Given the description of an element on the screen output the (x, y) to click on. 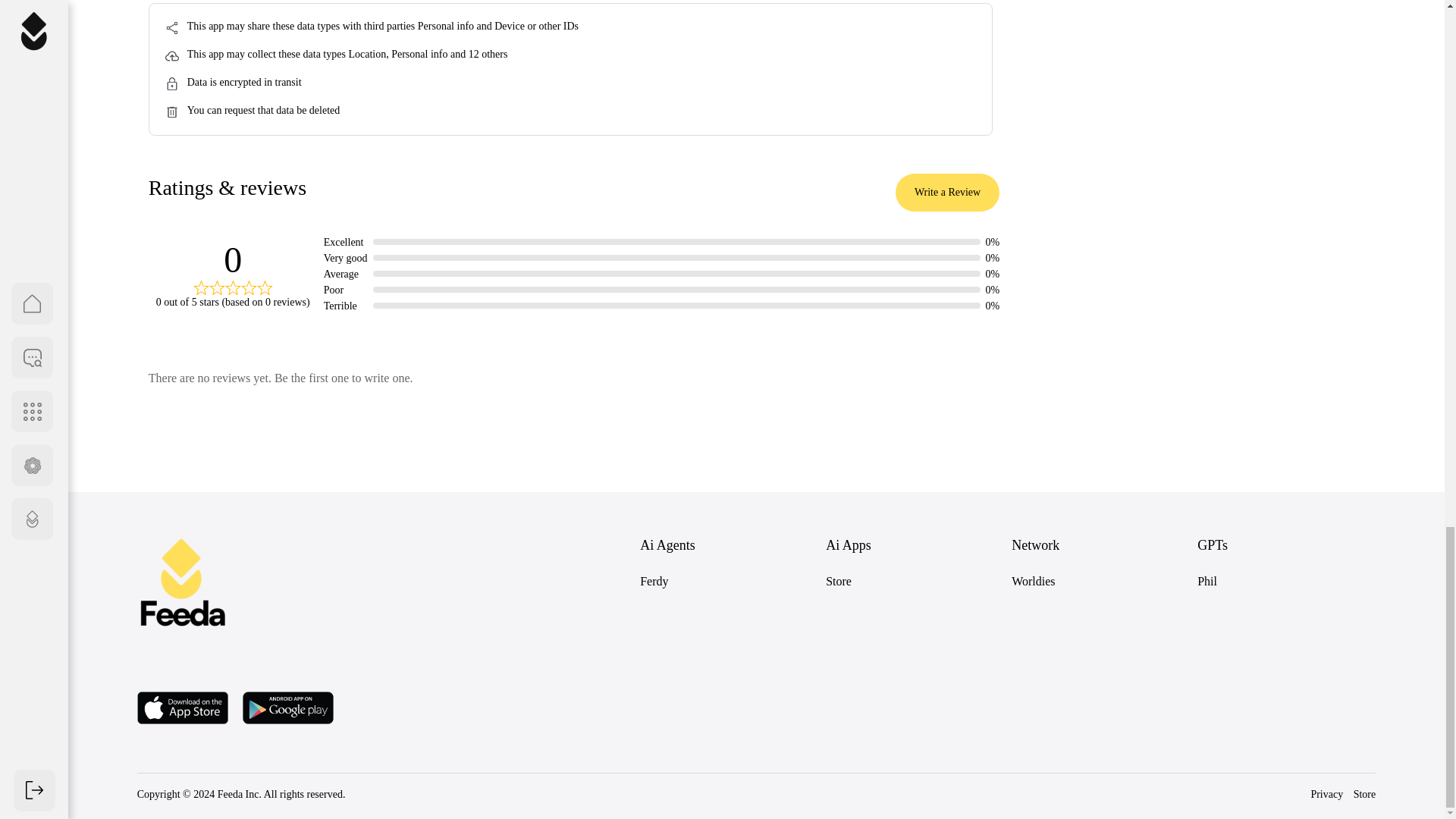
Phil (1206, 581)
Ferdy (654, 581)
Worldies (1032, 581)
Write a Review (946, 192)
Store (838, 581)
